Given the description of an element on the screen output the (x, y) to click on. 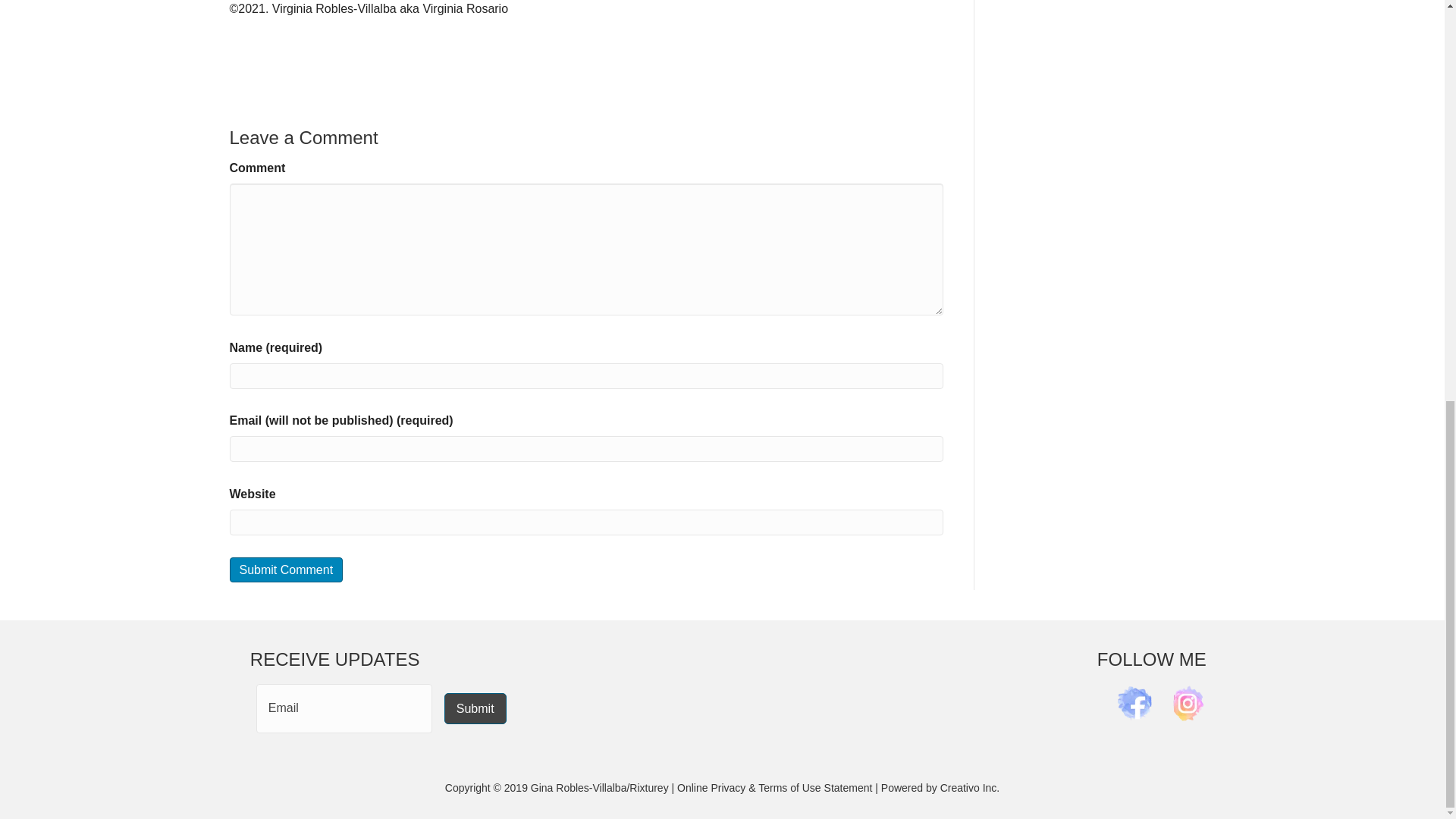
Submit Comment (285, 569)
Submit (475, 707)
Submit (475, 707)
Submit Comment (285, 569)
Creativo Inc. (970, 787)
